Given the description of an element on the screen output the (x, y) to click on. 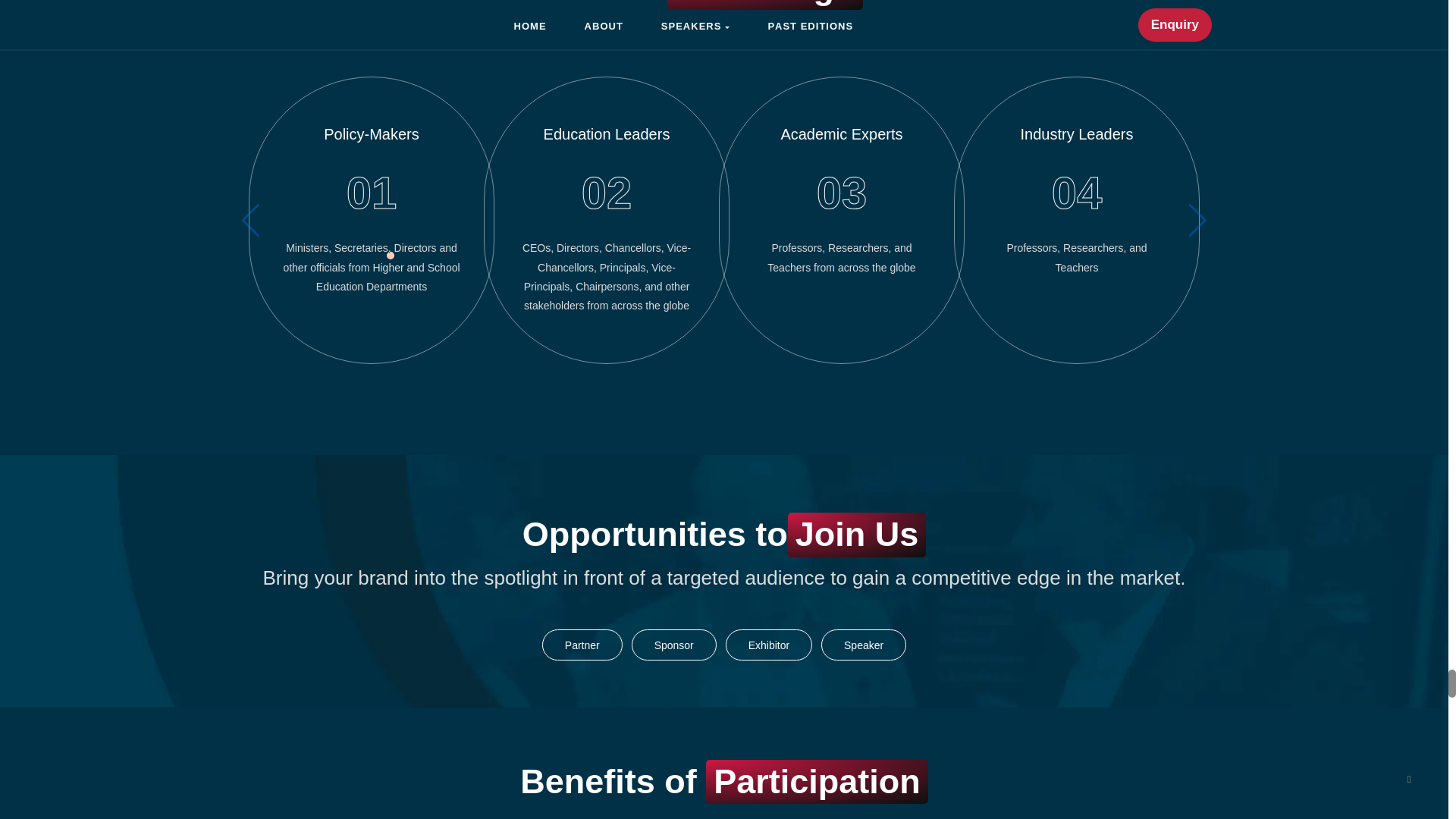
Exhibitor (768, 644)
Sponsor (673, 644)
Partner (582, 644)
Speaker (863, 644)
